Given the description of an element on the screen output the (x, y) to click on. 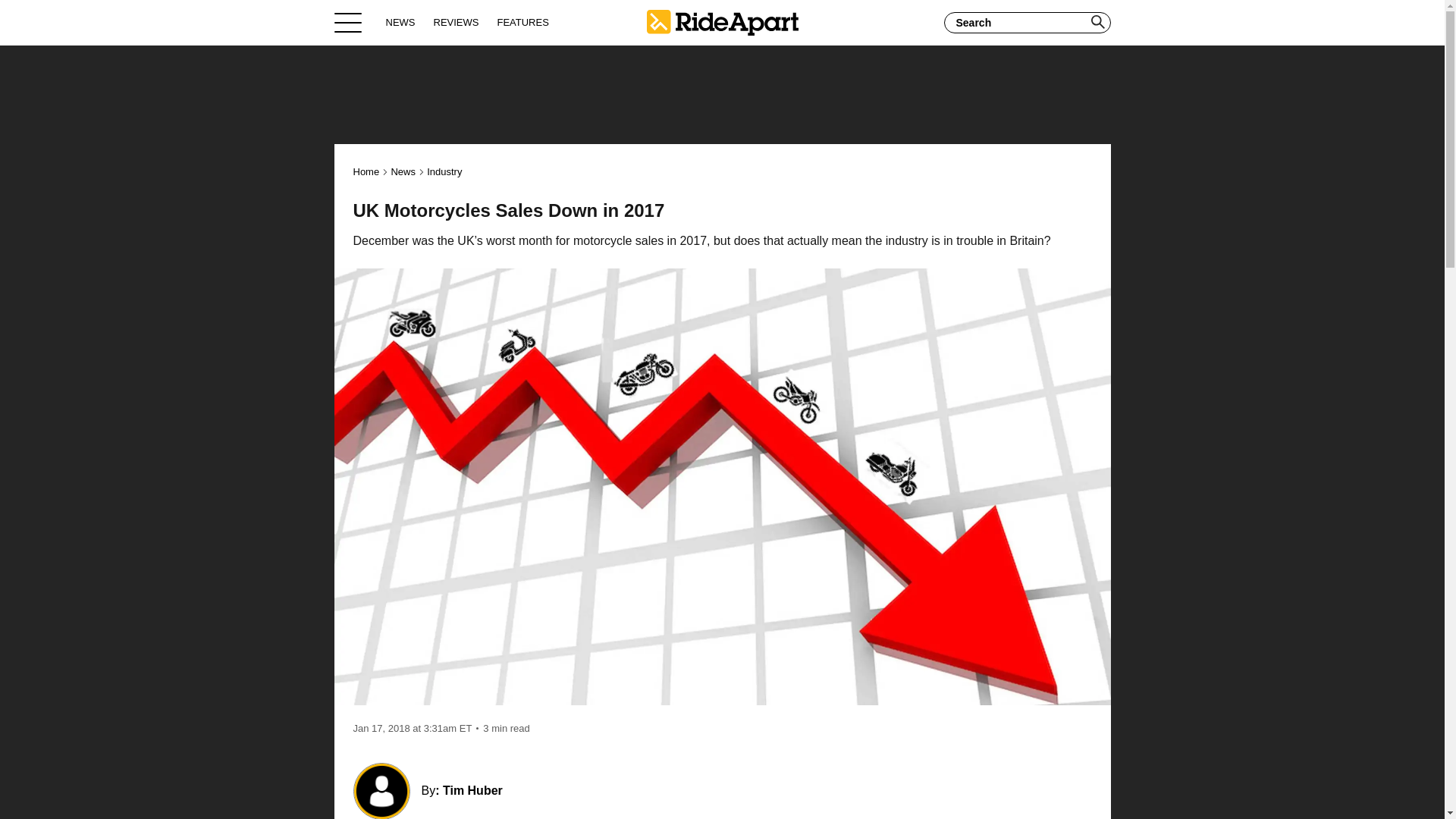
Tim Huber (472, 789)
NEWS (399, 22)
News (402, 171)
FEATURES (522, 22)
Industry (443, 171)
Home (721, 22)
Home (366, 171)
REVIEWS (456, 22)
